Given the description of an element on the screen output the (x, y) to click on. 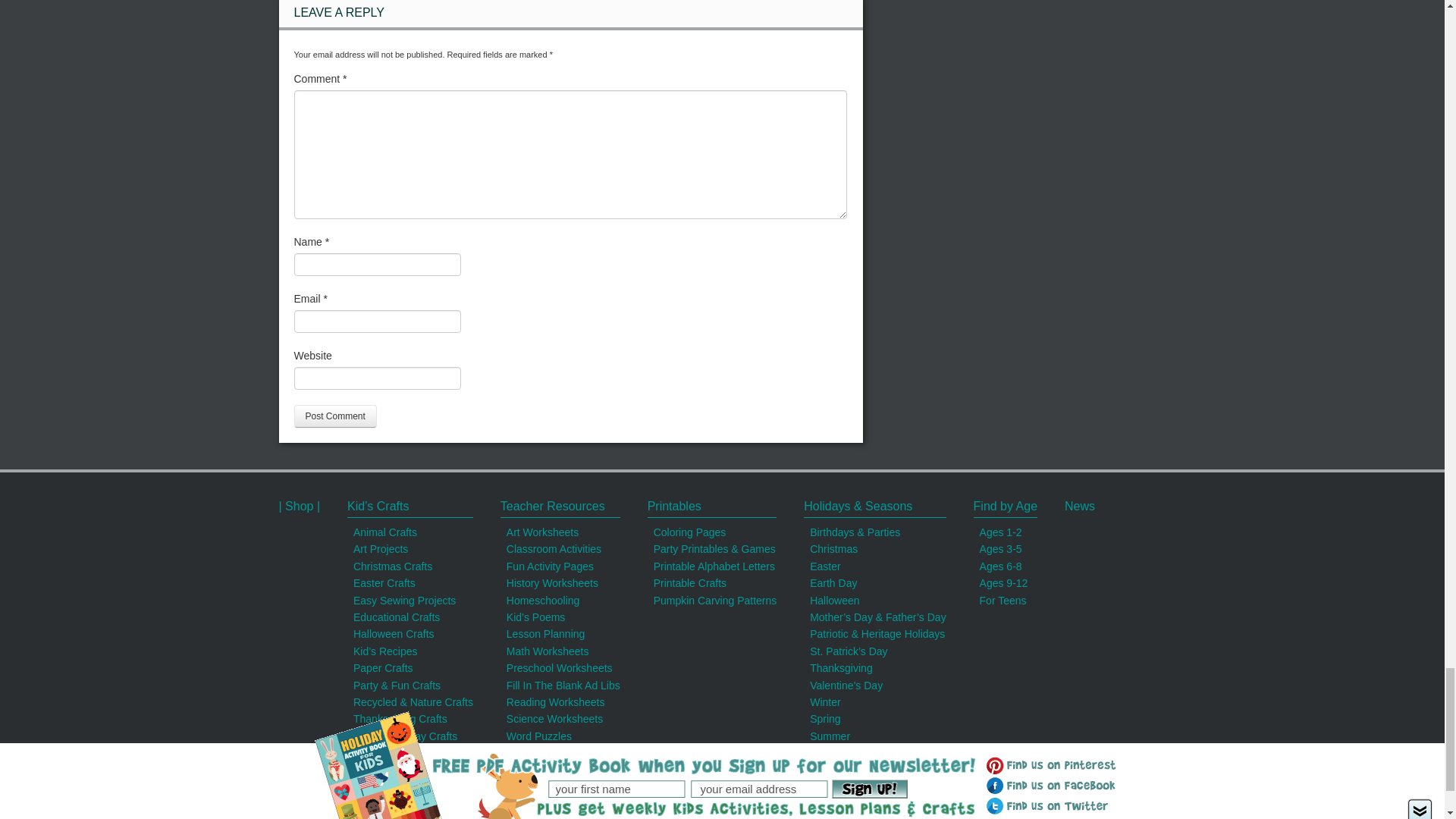
Post Comment (335, 415)
